Given the description of an element on the screen output the (x, y) to click on. 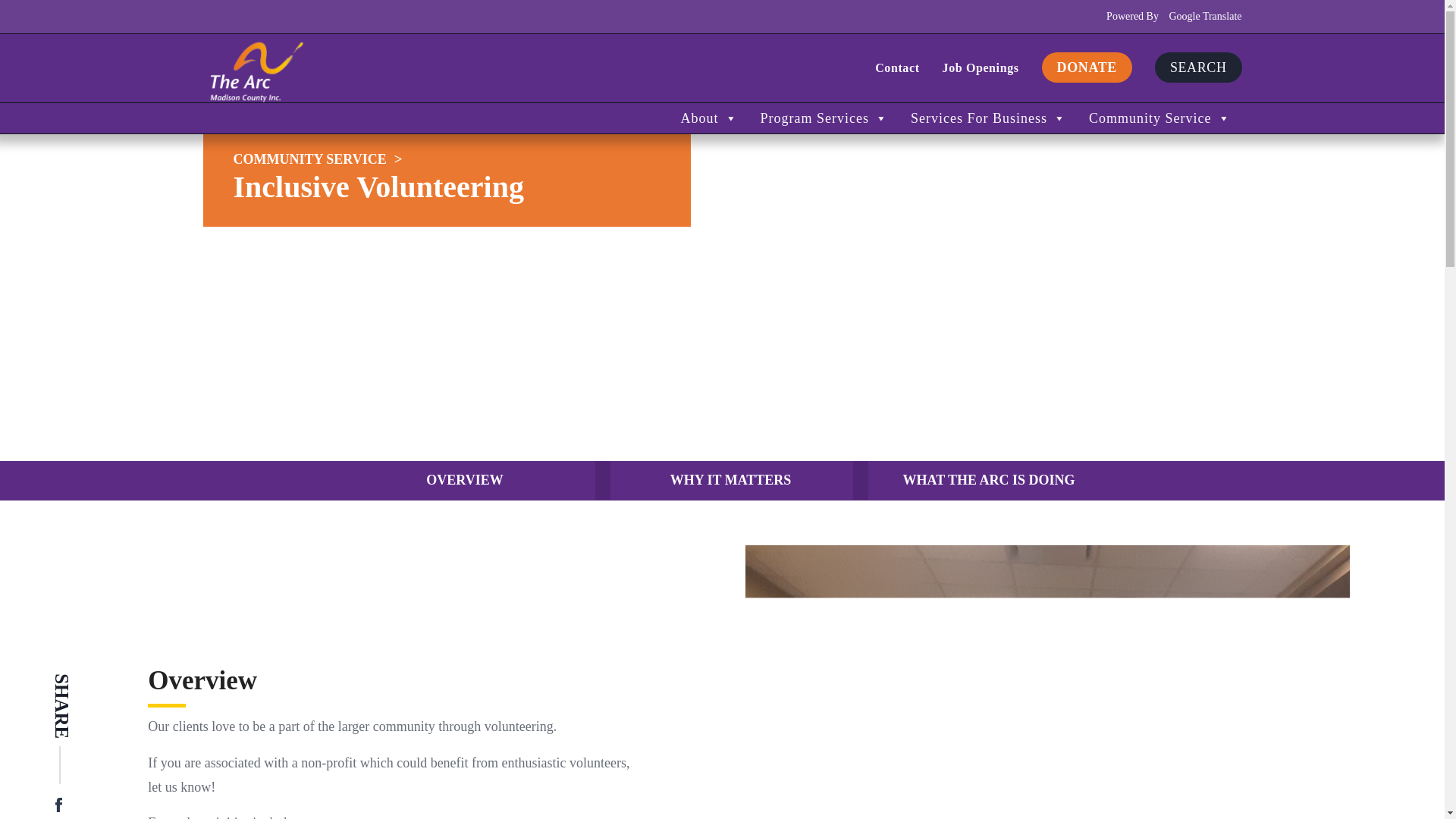
About (709, 118)
Program Services (824, 118)
Services For Business (988, 118)
Community Service (309, 159)
